Given the description of an element on the screen output the (x, y) to click on. 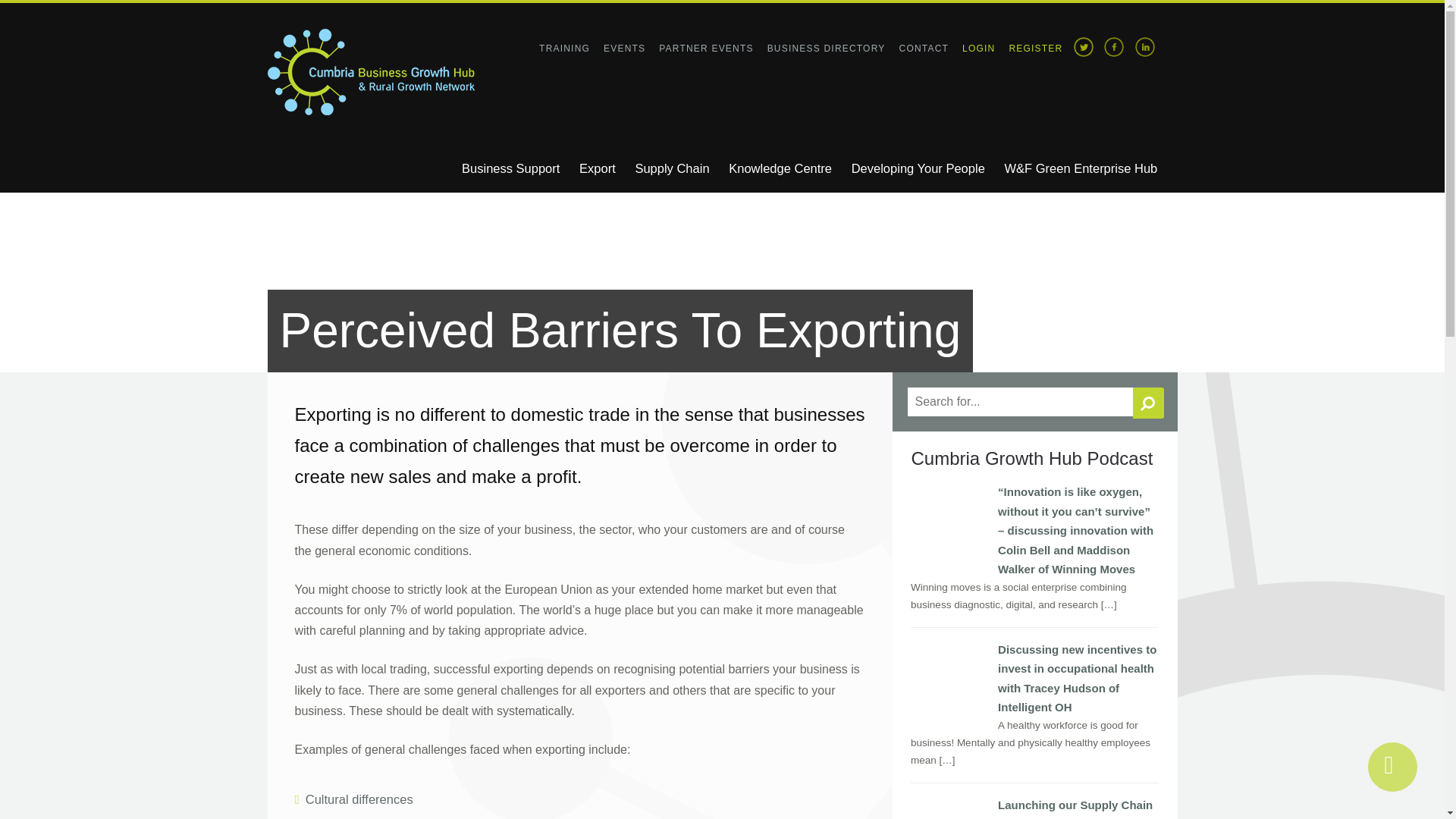
BUSINESS DIRECTORY (826, 46)
Business Support (508, 168)
Skip to content (476, 155)
Launching our Supply Chain Programme with Martyn Staveley (949, 808)
REGISTER (1035, 46)
Top (1392, 766)
TRAINING (563, 46)
EVENTS (624, 46)
CONTACT (924, 46)
LOGIN (978, 46)
